Given the description of an element on the screen output the (x, y) to click on. 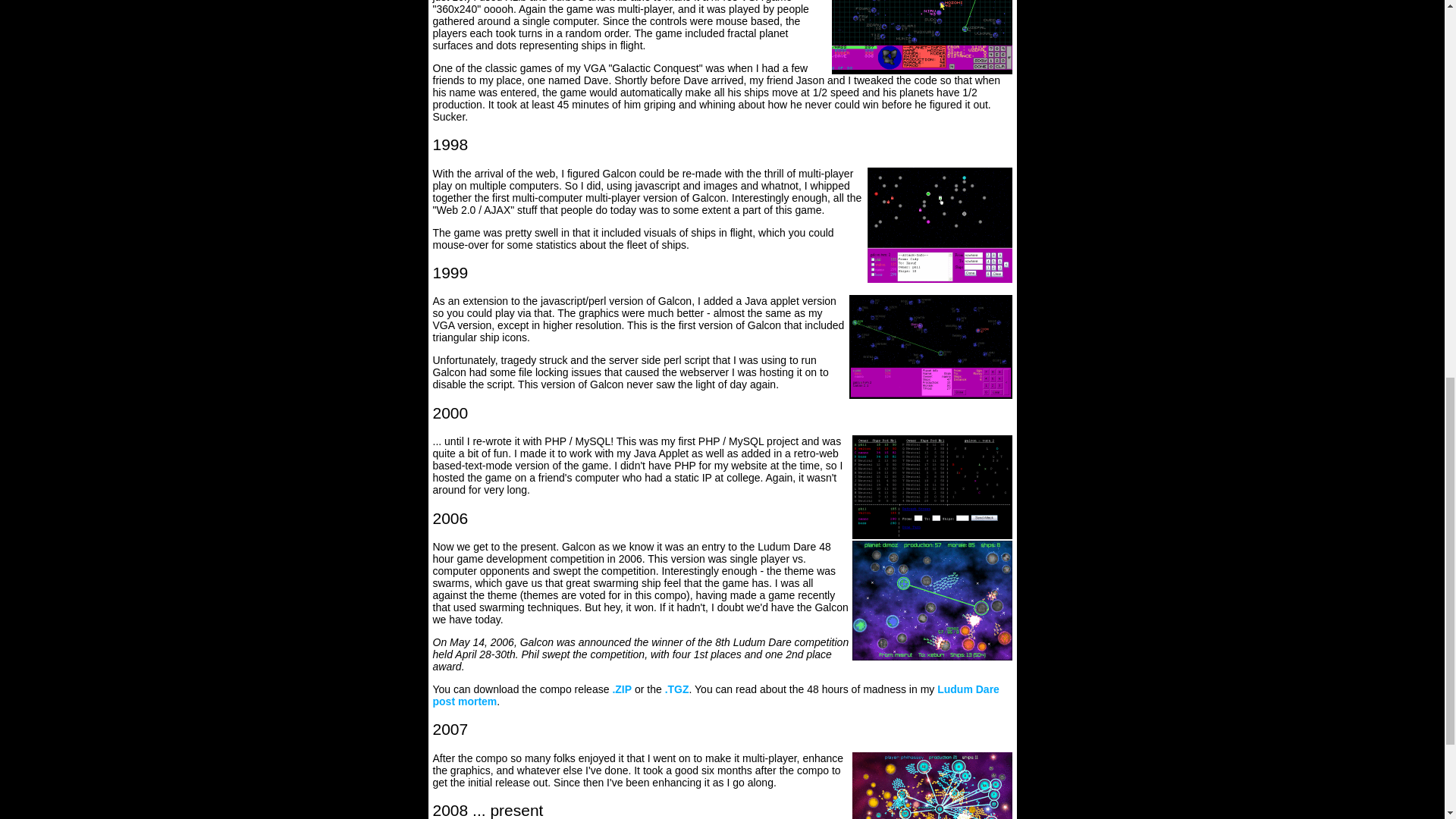
.ZIP (621, 689)
.TGZ (676, 689)
Ludum Dare post mortem (715, 695)
